Given the description of an element on the screen output the (x, y) to click on. 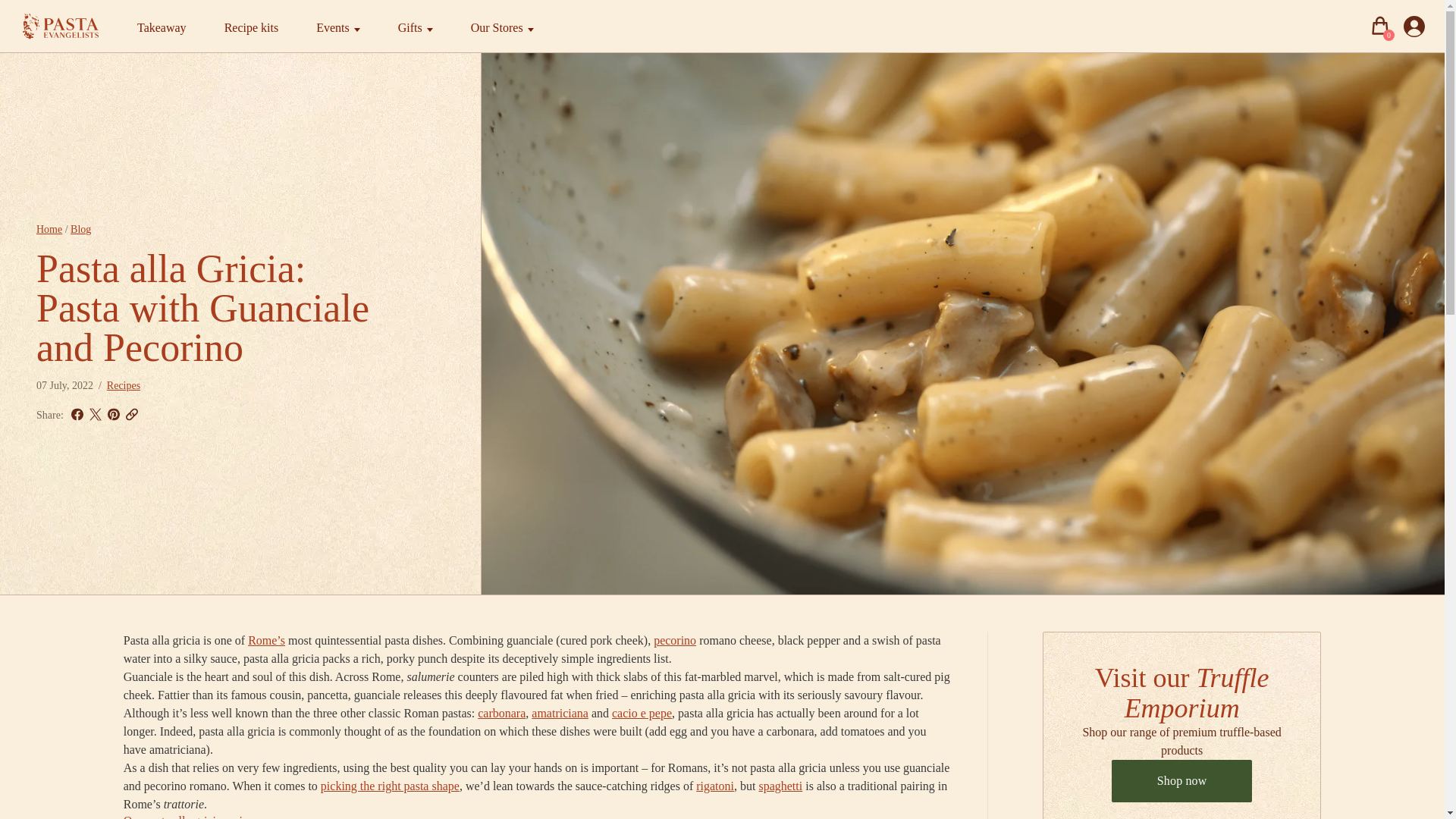
Rigatoni recipes (714, 785)
How to pair pasta with the right sauce (390, 785)
Amatriciana recipe (559, 712)
Our cacio e pepe recipe (641, 712)
Everything you need to know about pecorino cheese (674, 640)
Classic carbonara recipe (501, 712)
Rome food guide (266, 640)
Spaghetti recipes (780, 785)
